Given the description of an element on the screen output the (x, y) to click on. 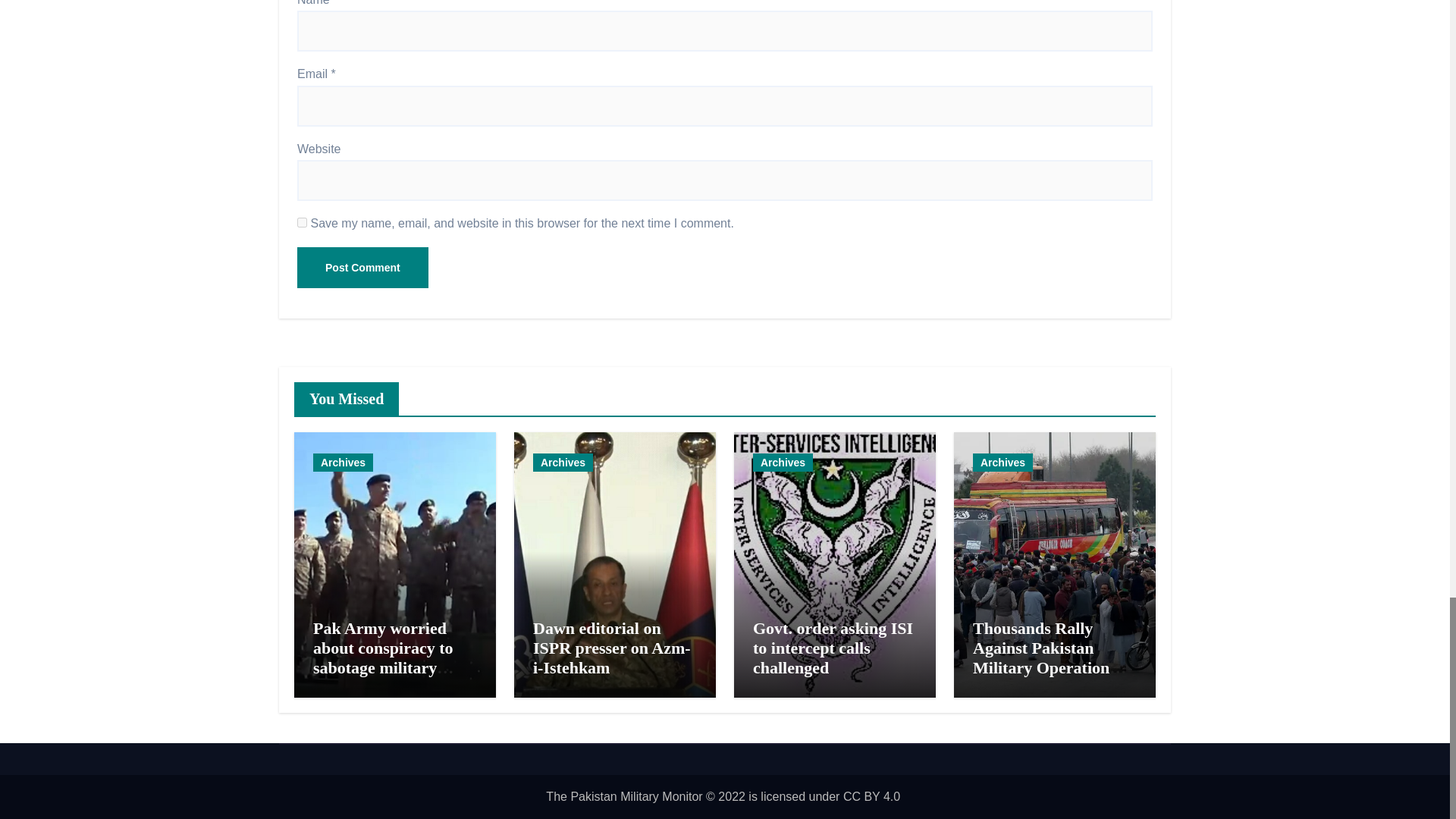
Post Comment (362, 267)
yes (302, 222)
